Given the description of an element on the screen output the (x, y) to click on. 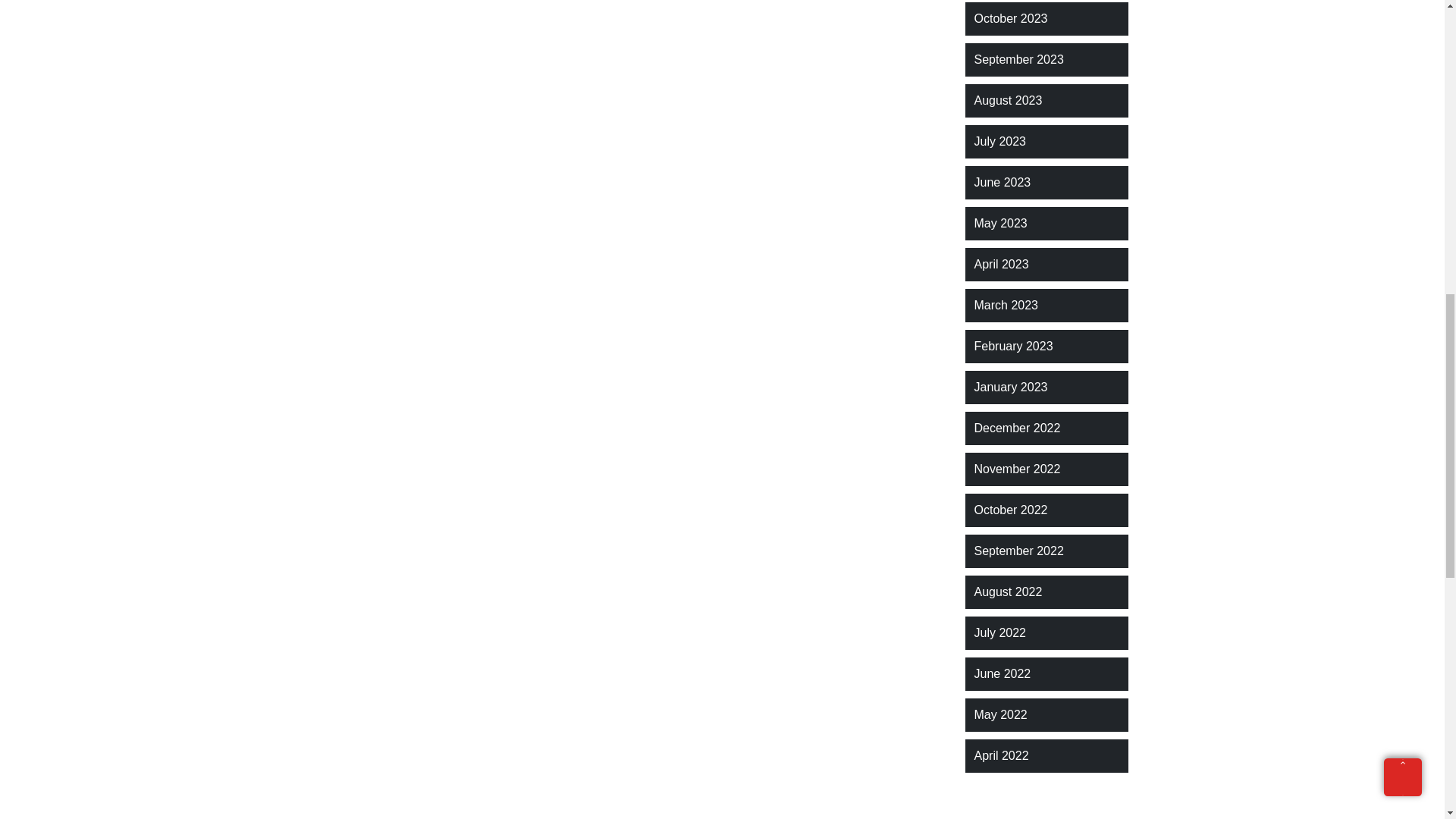
July 2022 (1000, 633)
October 2022 (1010, 510)
August 2022 (1008, 592)
September 2023 (1018, 59)
September 2022 (1018, 551)
January 2023 (1010, 387)
May 2022 (1000, 714)
December 2022 (1016, 428)
February 2023 (1013, 346)
October 2023 (1010, 18)
June 2022 (1002, 674)
May 2023 (1000, 223)
April 2022 (1000, 755)
November 2022 (1016, 469)
April 2023 (1000, 264)
